Given the description of an element on the screen output the (x, y) to click on. 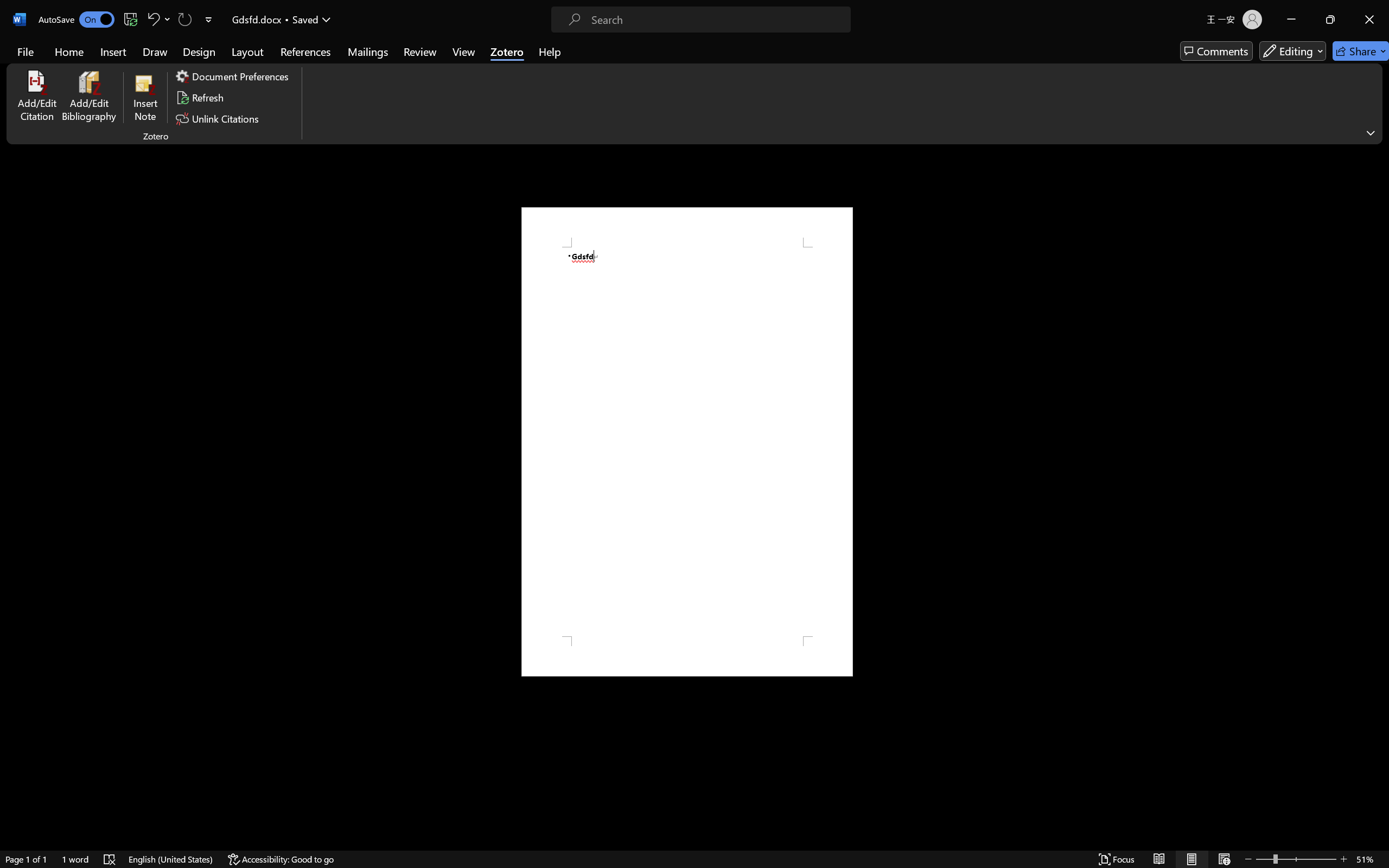
Page 1 content (686, 441)
